Given the description of an element on the screen output the (x, y) to click on. 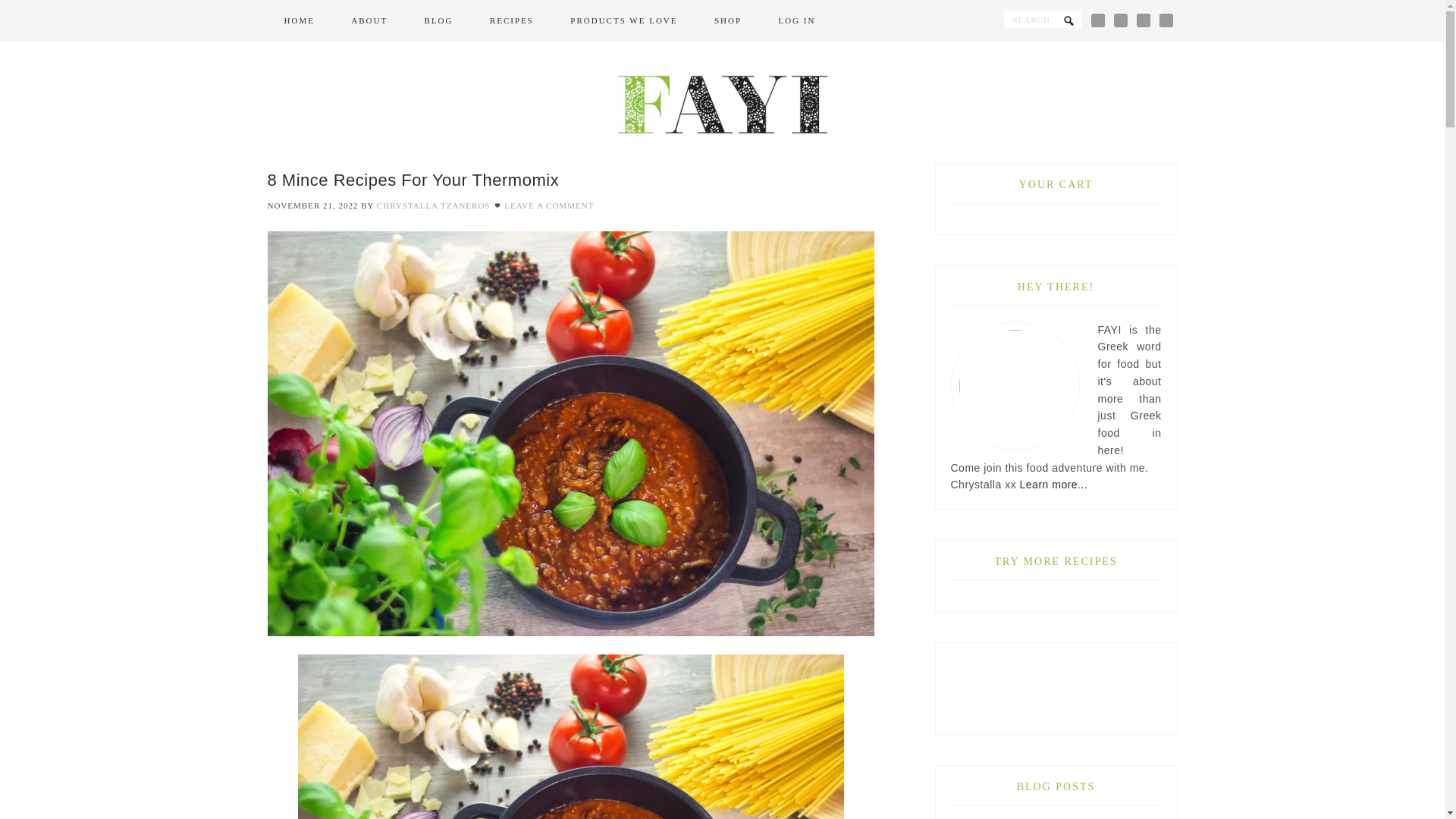
CHRYSTALLA TZANEROS (433, 204)
ABOUT (369, 20)
BLOG (438, 20)
8 Mince Recipes For Your Thermomix (412, 179)
FAYI (721, 102)
LOG IN (796, 20)
RECIPES (511, 20)
LEAVE A COMMENT (548, 204)
PRODUCTS WE LOVE (623, 20)
SHOP (727, 20)
HOME (298, 20)
